Given the description of an element on the screen output the (x, y) to click on. 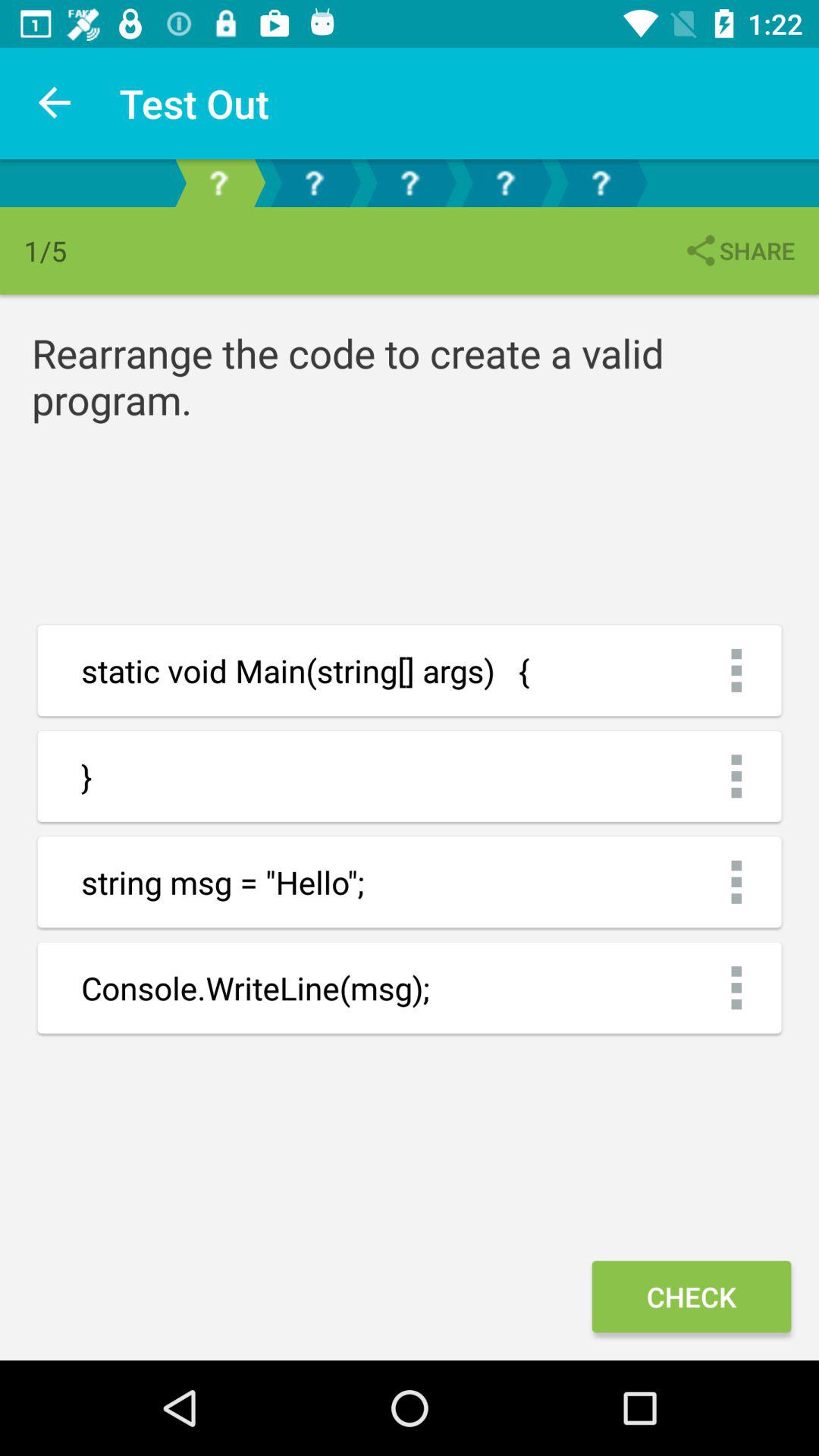
launch the check icon (691, 1296)
